Given the description of an element on the screen output the (x, y) to click on. 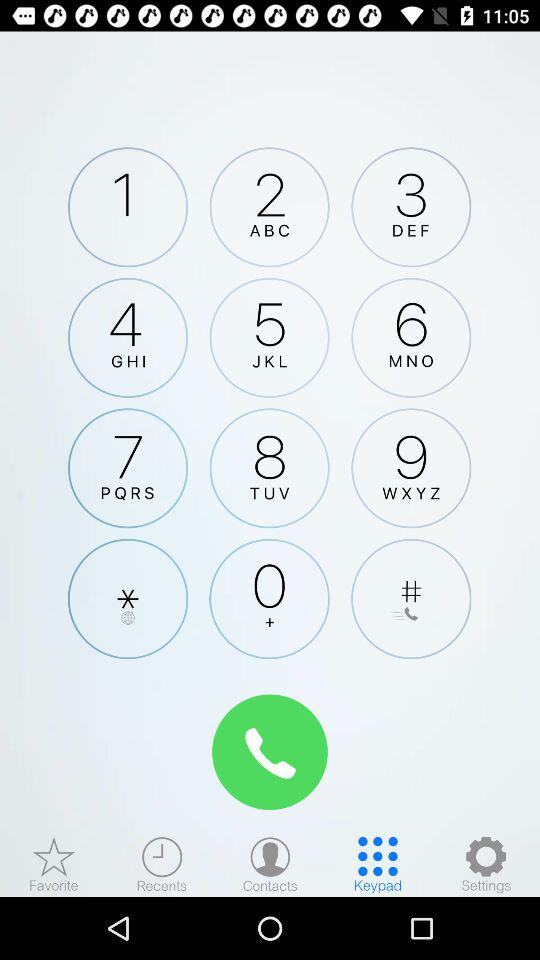
button (127, 598)
